Given the description of an element on the screen output the (x, y) to click on. 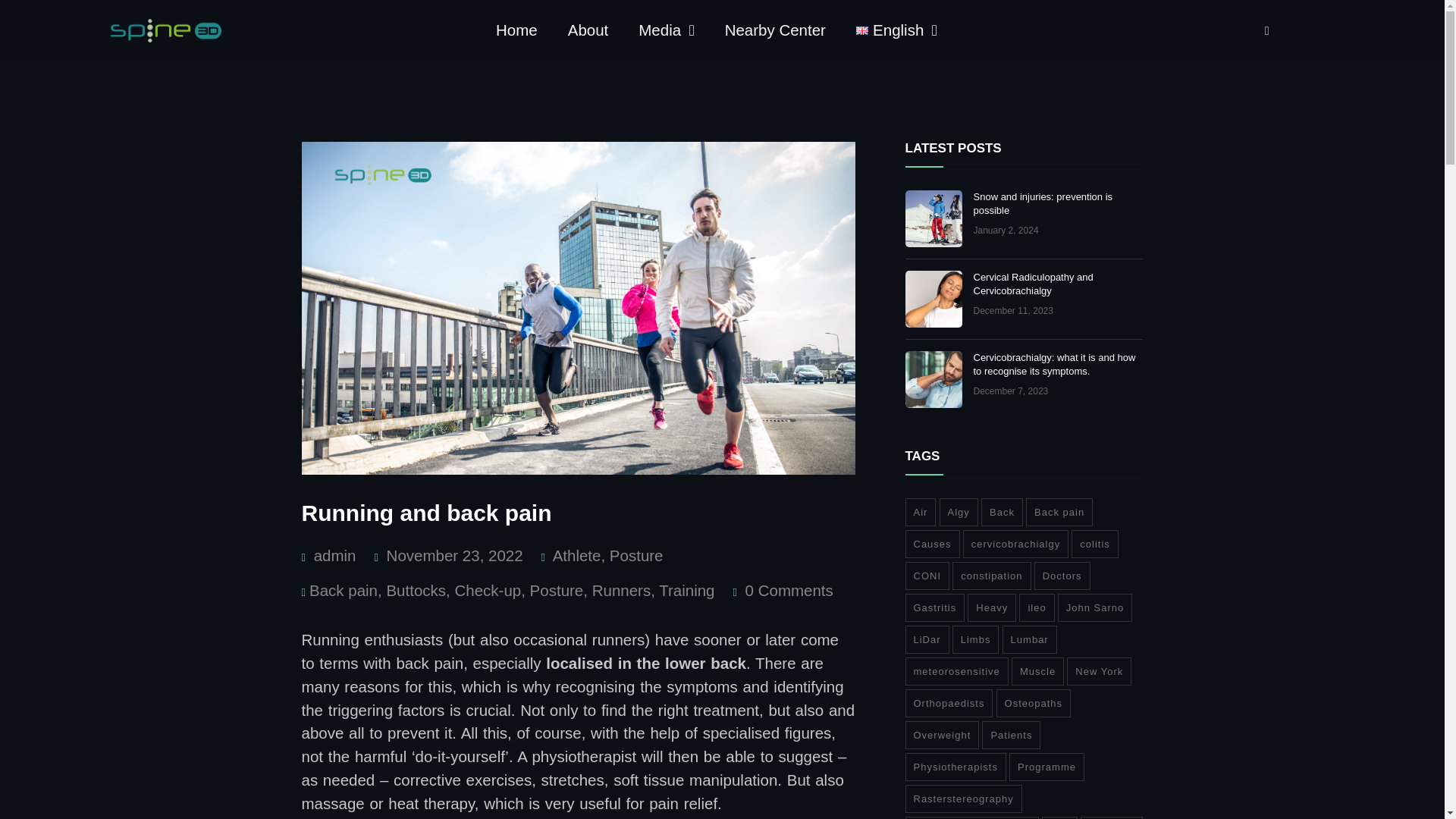
Home (516, 30)
Snow and injuries: prevention is possible (1043, 203)
Nearby Center (775, 30)
About (588, 30)
Media (666, 30)
English (896, 30)
Posts by admin (335, 555)
5:14 pm (1006, 230)
